Given the description of an element on the screen output the (x, y) to click on. 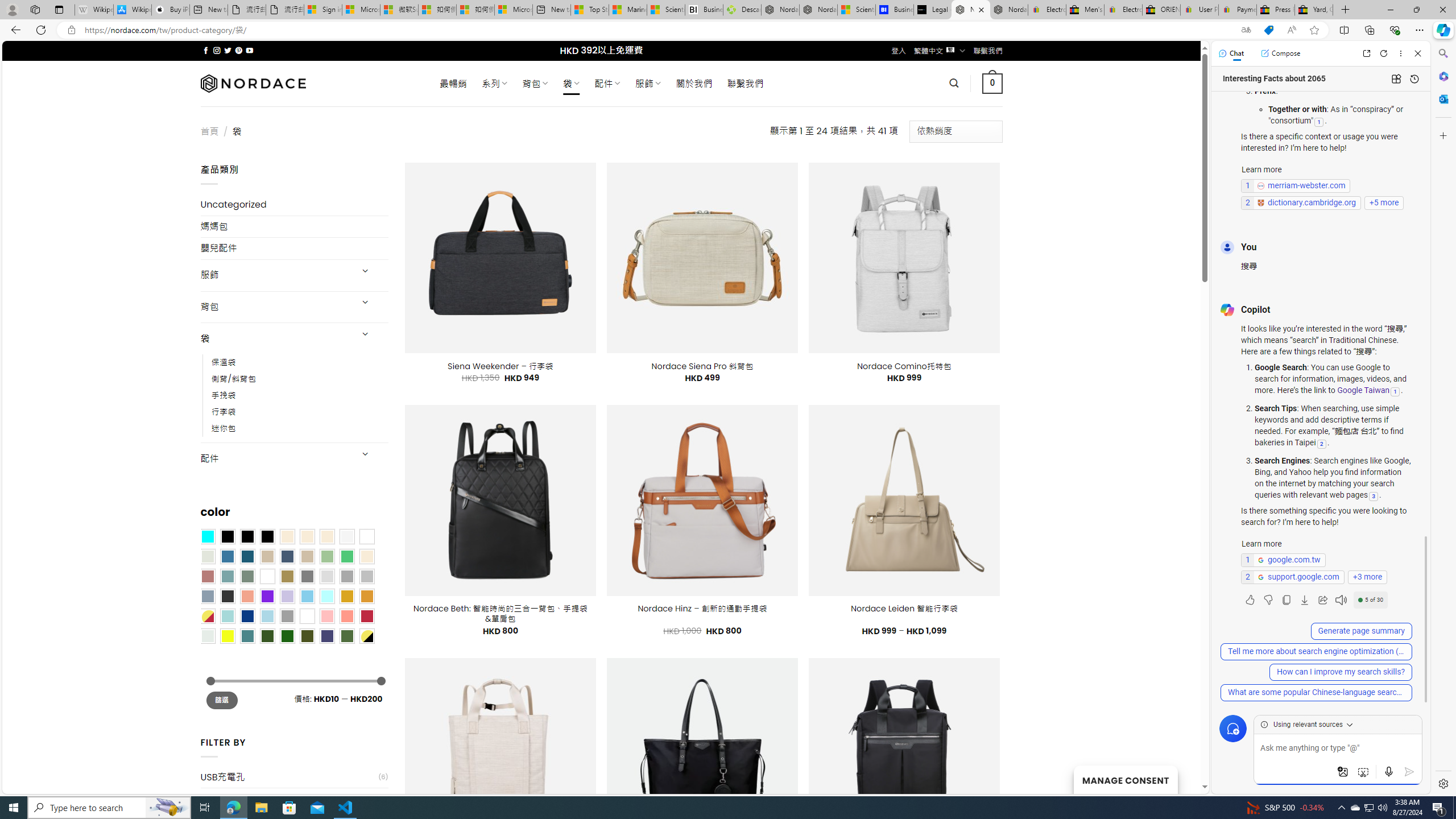
Microsoft account | Account Checkup (513, 9)
Dull Nickle (207, 635)
